Given the description of an element on the screen output the (x, y) to click on. 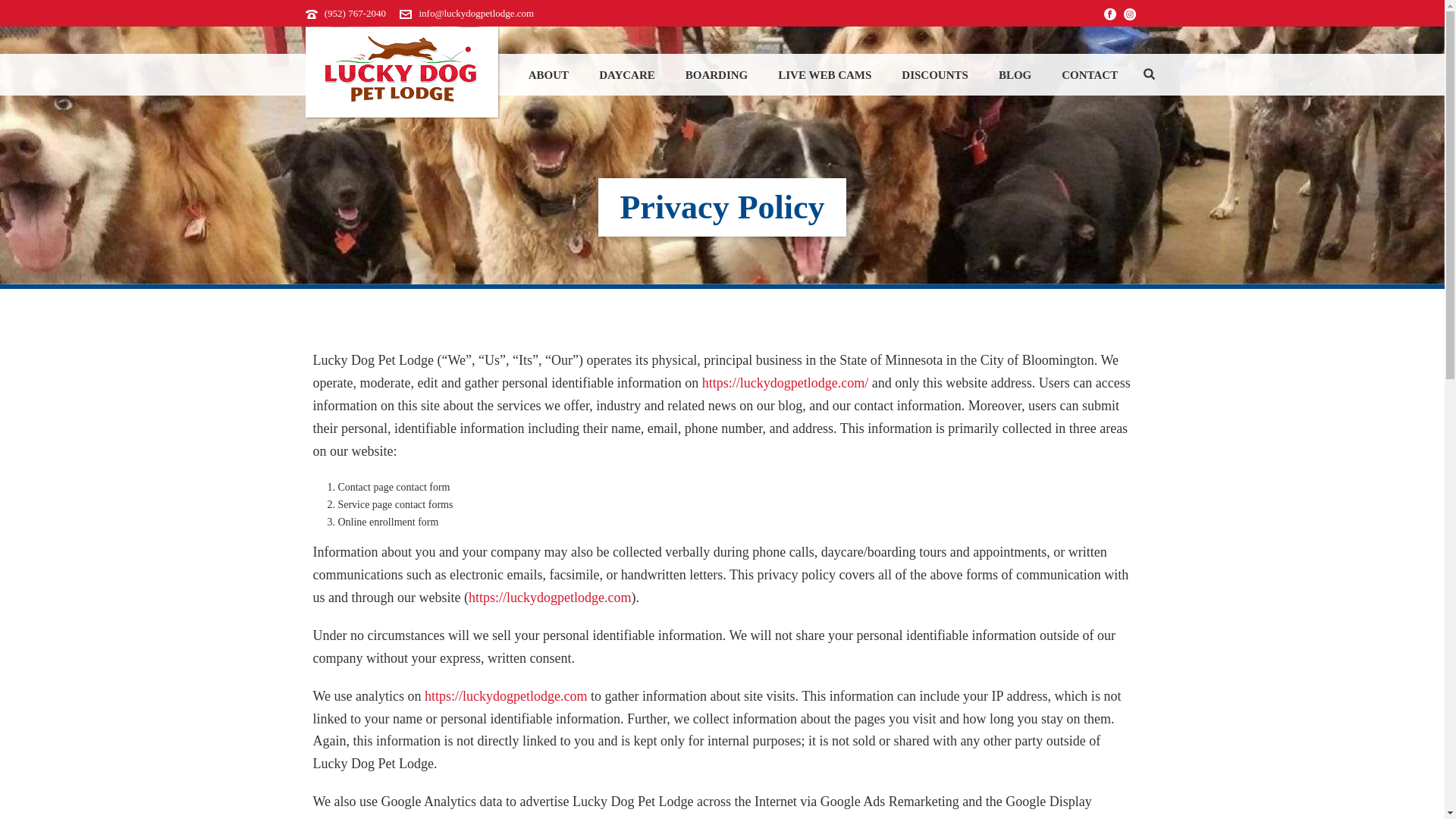
BLOG (1015, 75)
BOARDING (715, 75)
LIVE WEB CAMS (824, 75)
DISCOUNTS (935, 75)
DAYCARE (626, 75)
BLOG (1015, 75)
Bloomington Dog Boarding and Daycare (402, 73)
ABOUT (548, 75)
DISCOUNTS (935, 75)
DAYCARE (626, 75)
BOARDING (715, 75)
LIVE WEB CAMS (824, 75)
CONTACT (1089, 75)
ABOUT (548, 75)
CONTACT (1089, 75)
